Given the description of an element on the screen output the (x, y) to click on. 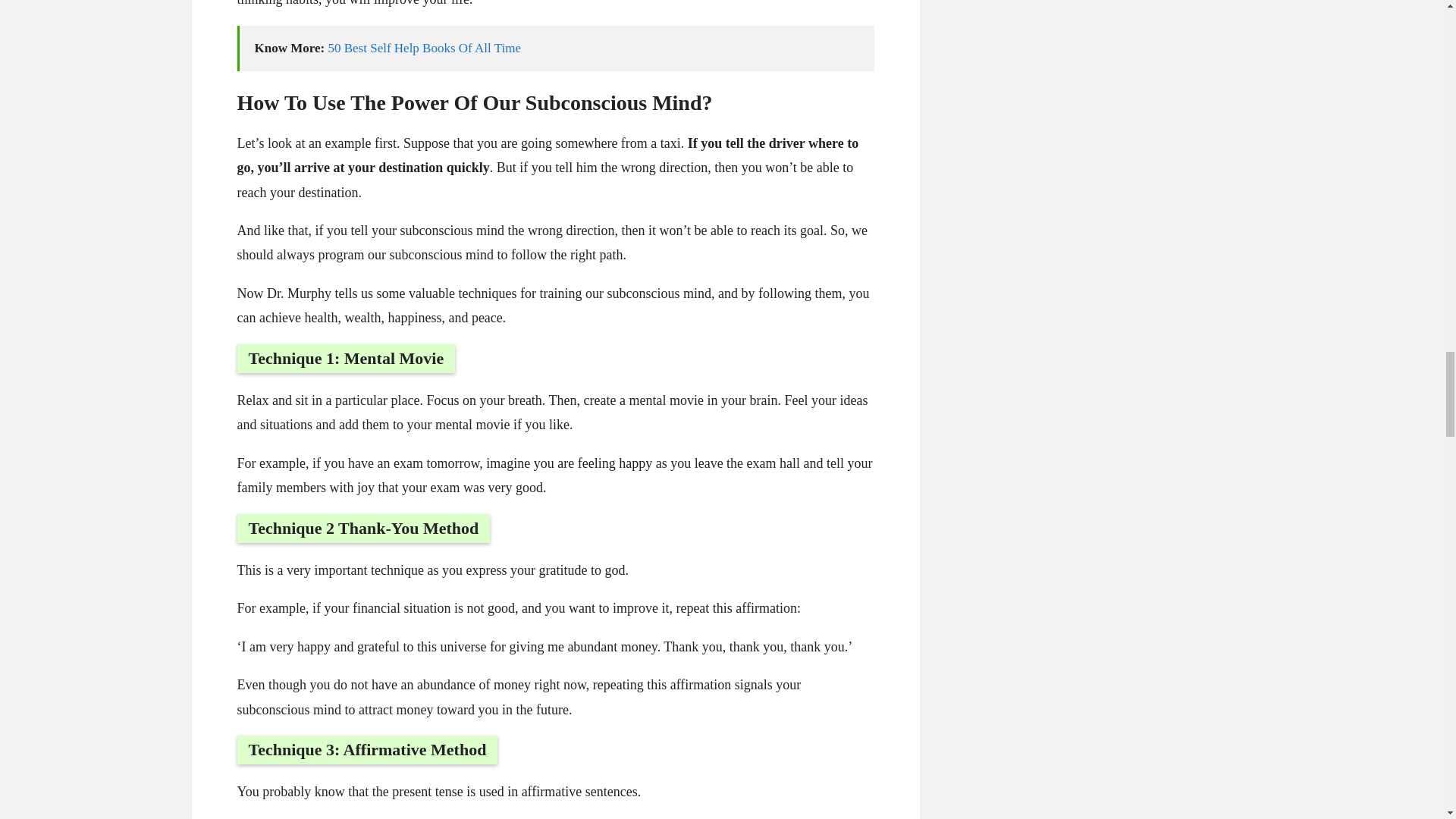
50 Best Self Help Books Of All Time (424, 47)
